Given the description of an element on the screen output the (x, y) to click on. 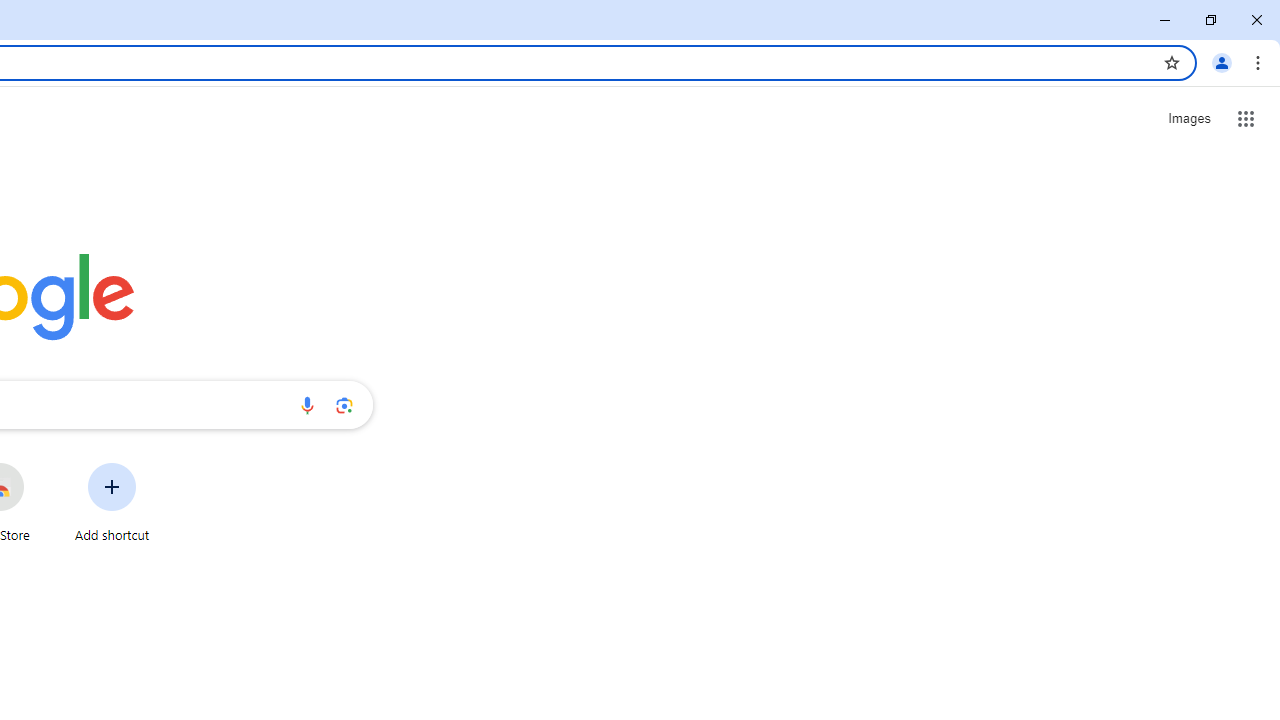
More actions for Web Store shortcut (39, 464)
